Given the description of an element on the screen output the (x, y) to click on. 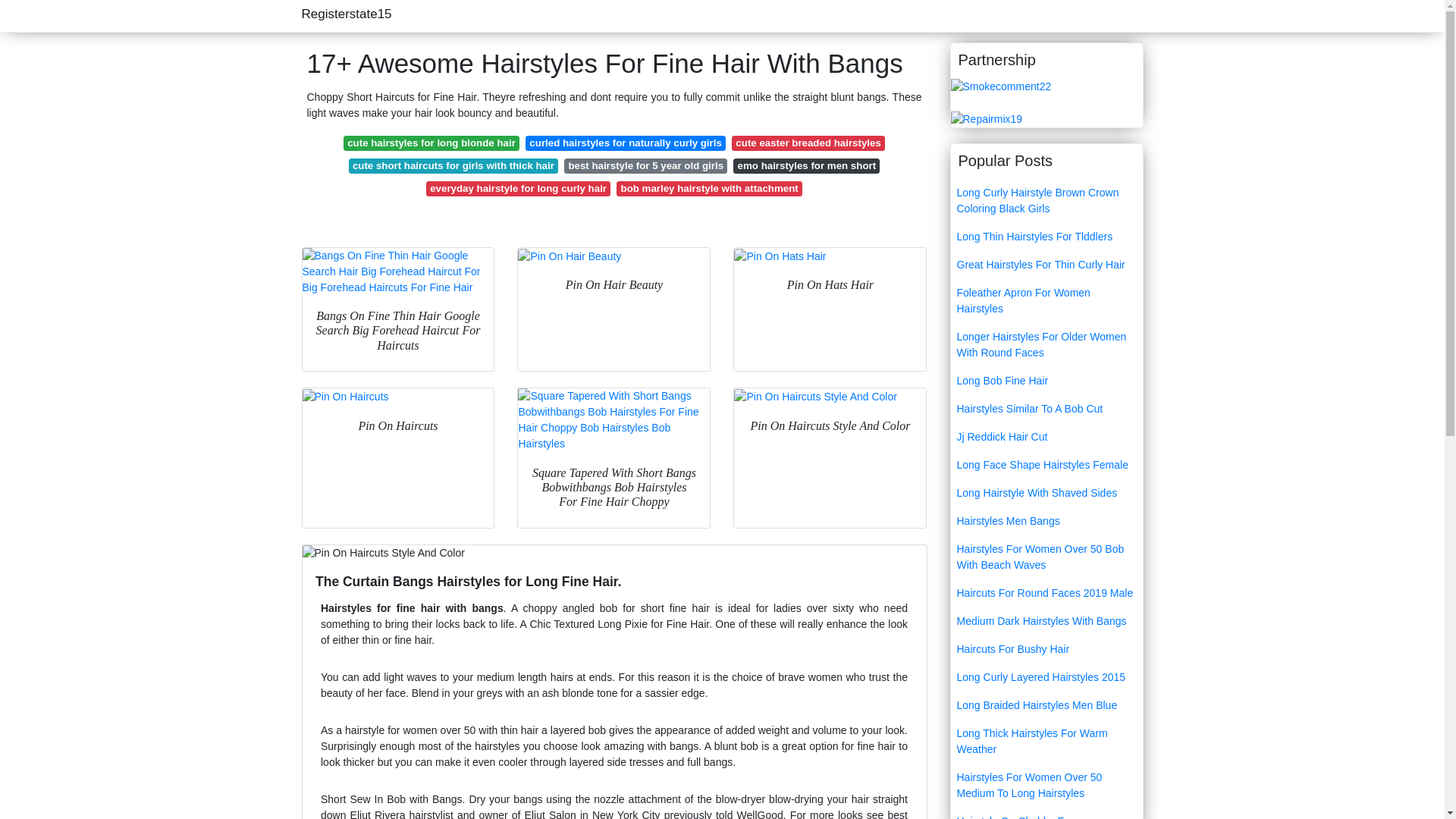
Longer Hairstyles For Older Women With Round Faces (1046, 344)
Registerstate15 (346, 13)
Hairstyles Similar To A Bob Cut (1046, 408)
Long Bob Fine Hair (1046, 380)
Foleather Apron For Women Hairstyles (1046, 300)
Hairstyles For Women Over 50 Bob With Beach Waves (1046, 557)
Repairmix19 (986, 118)
Medium Dark Hairstyles With Bangs (1046, 621)
Great Hairstyles For Thin Curly Hair (1046, 264)
everyday hairstyle for long curly hair (518, 188)
